Given the description of an element on the screen output the (x, y) to click on. 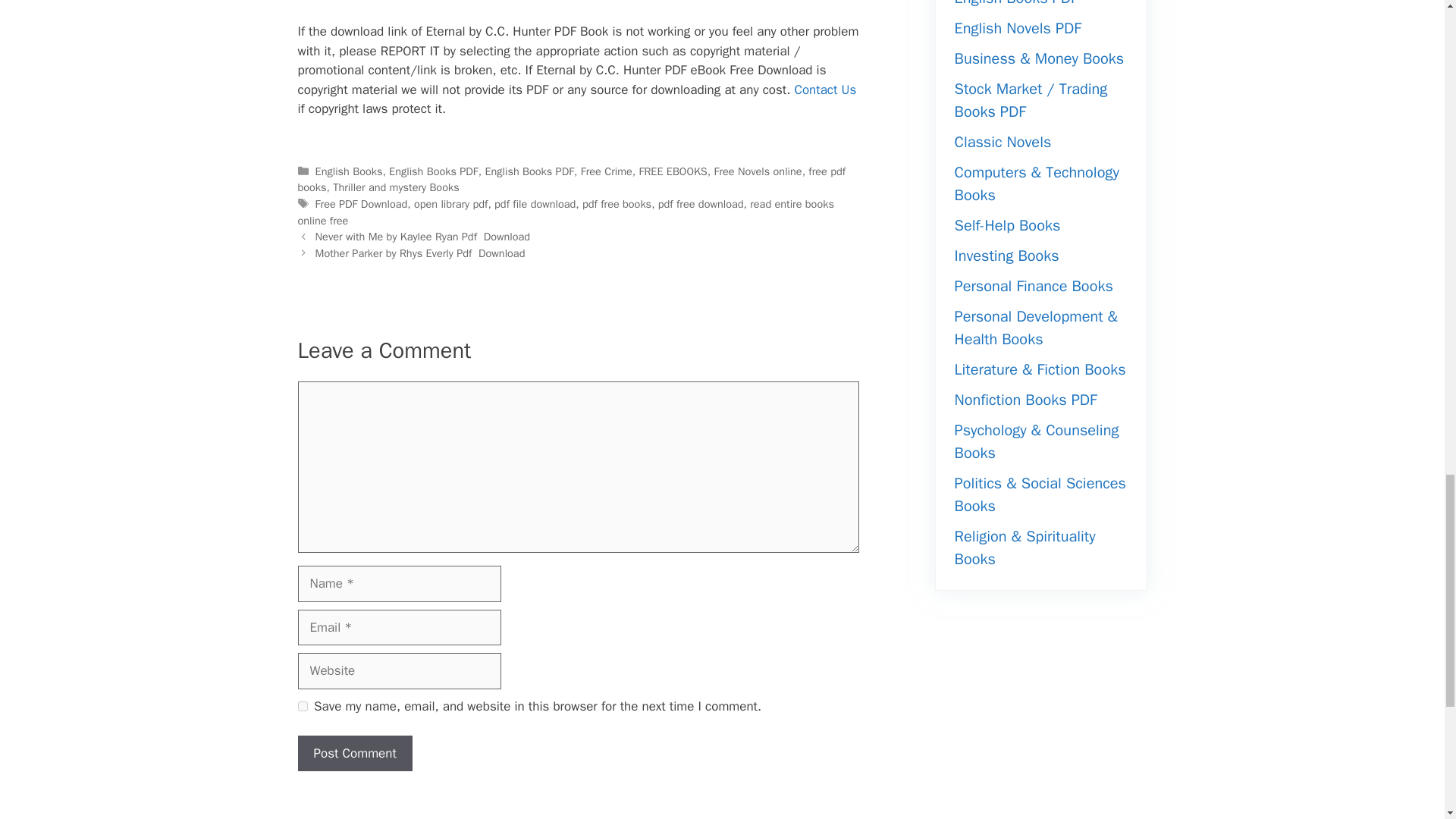
yes (302, 706)
read entire books online free (564, 212)
free pdf books (571, 179)
open library pdf (450, 203)
English Books PDF (433, 171)
Contact Us (824, 89)
Thriller and mystery Books (395, 187)
Post Comment (354, 753)
pdf free download (701, 203)
English Books (348, 171)
